Given the description of an element on the screen output the (x, y) to click on. 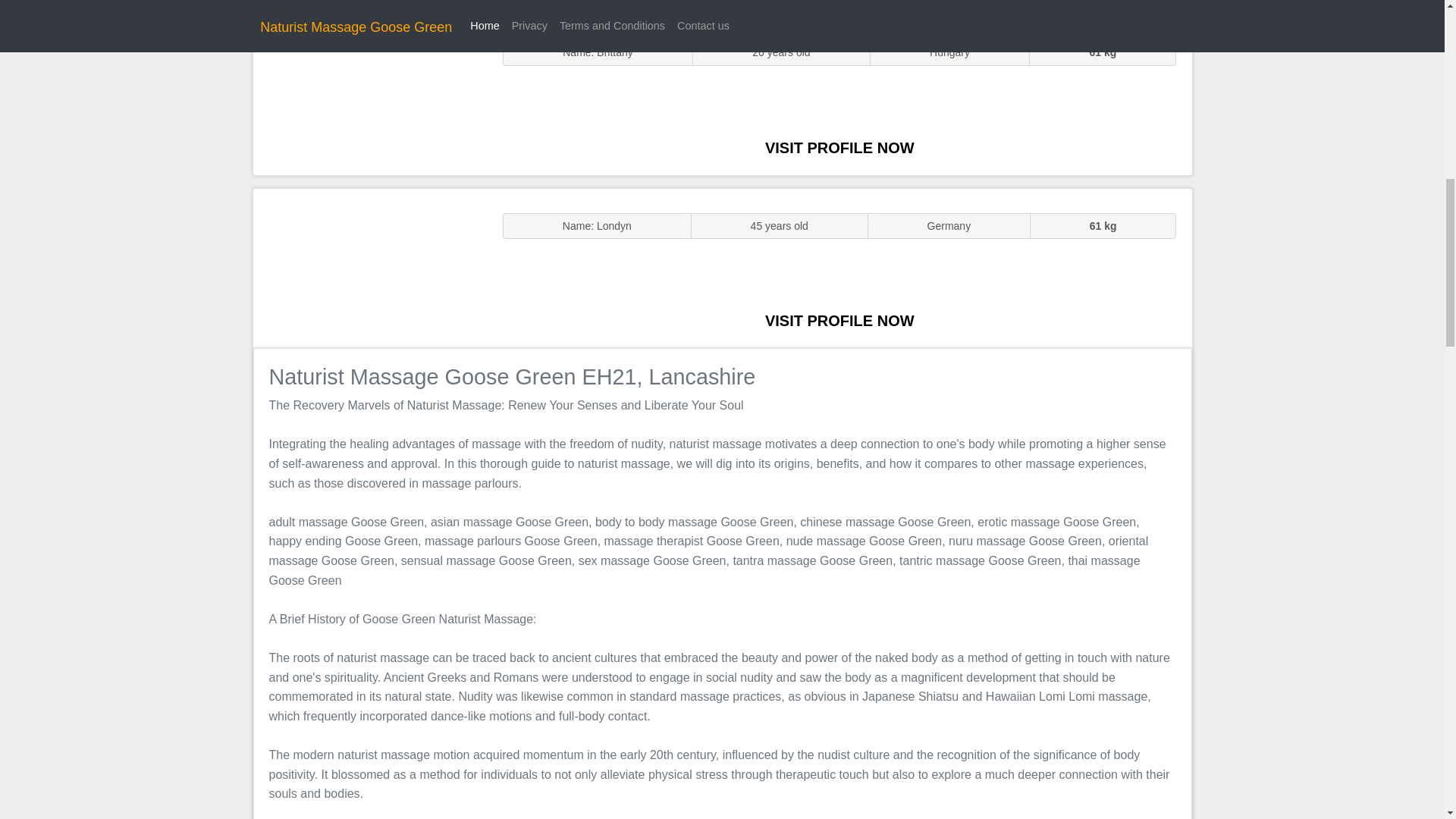
Sluts (370, 94)
VISIT PROFILE NOW (839, 320)
VISIT PROFILE NOW (839, 147)
Massage (370, 267)
